Given the description of an element on the screen output the (x, y) to click on. 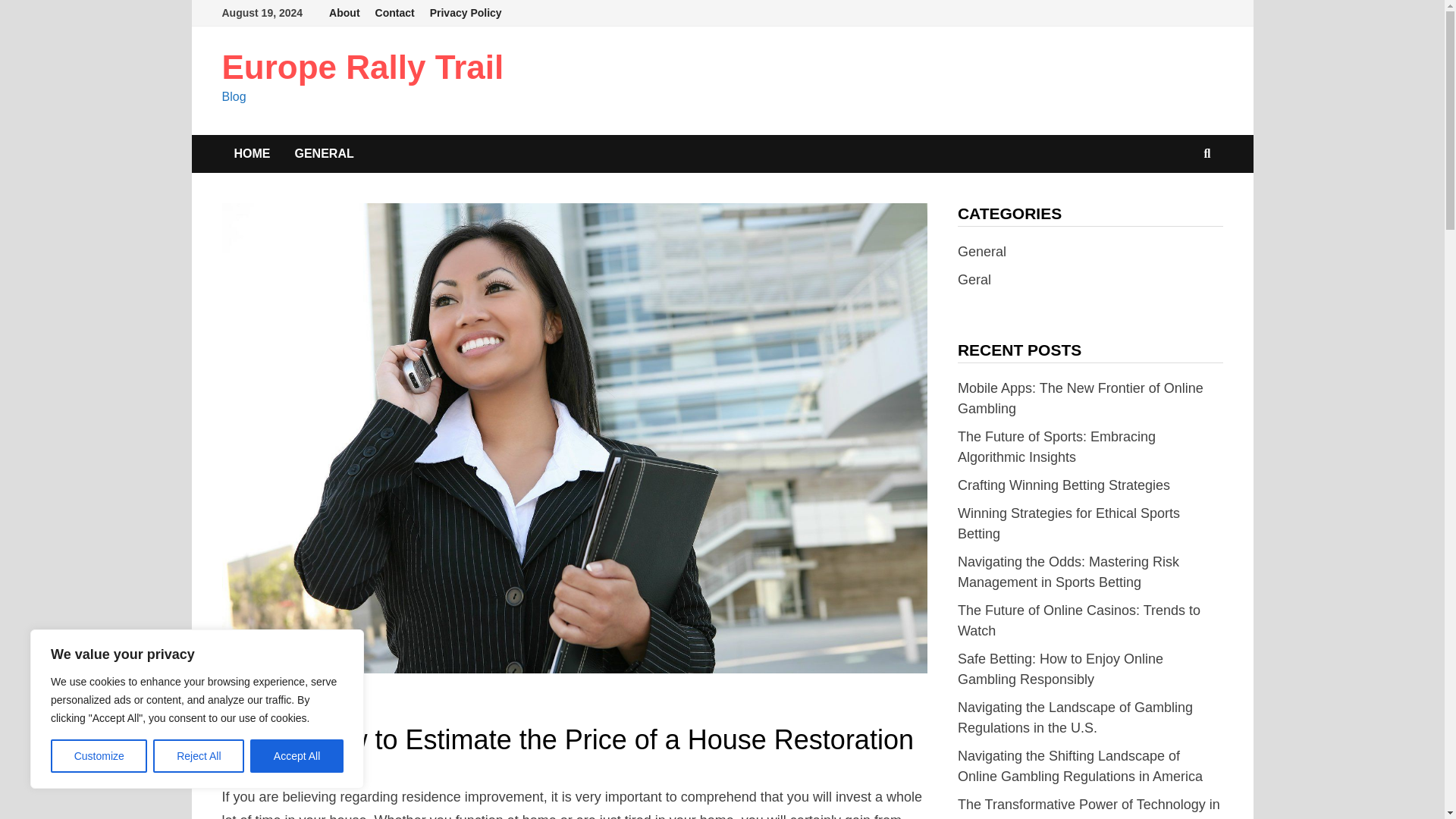
HOME (251, 153)
About (343, 13)
Accept All (296, 756)
Privacy Policy (465, 13)
GENERAL (247, 706)
GENERAL (323, 153)
Reject All (198, 756)
Contact (395, 13)
Customize (98, 756)
Europe Rally Trail (362, 66)
